Given the description of an element on the screen output the (x, y) to click on. 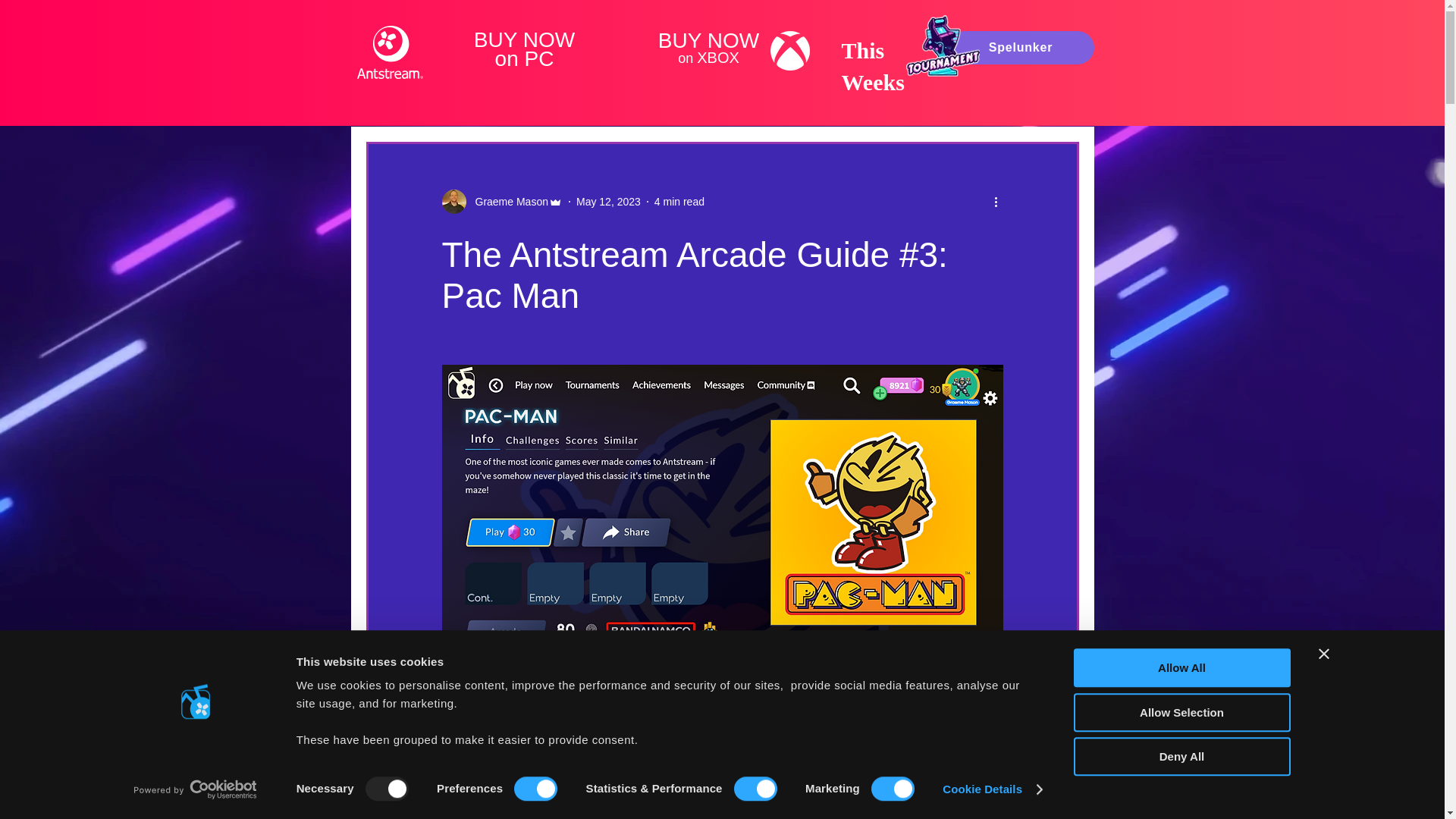
Cookie Details (991, 789)
